Given the description of an element on the screen output the (x, y) to click on. 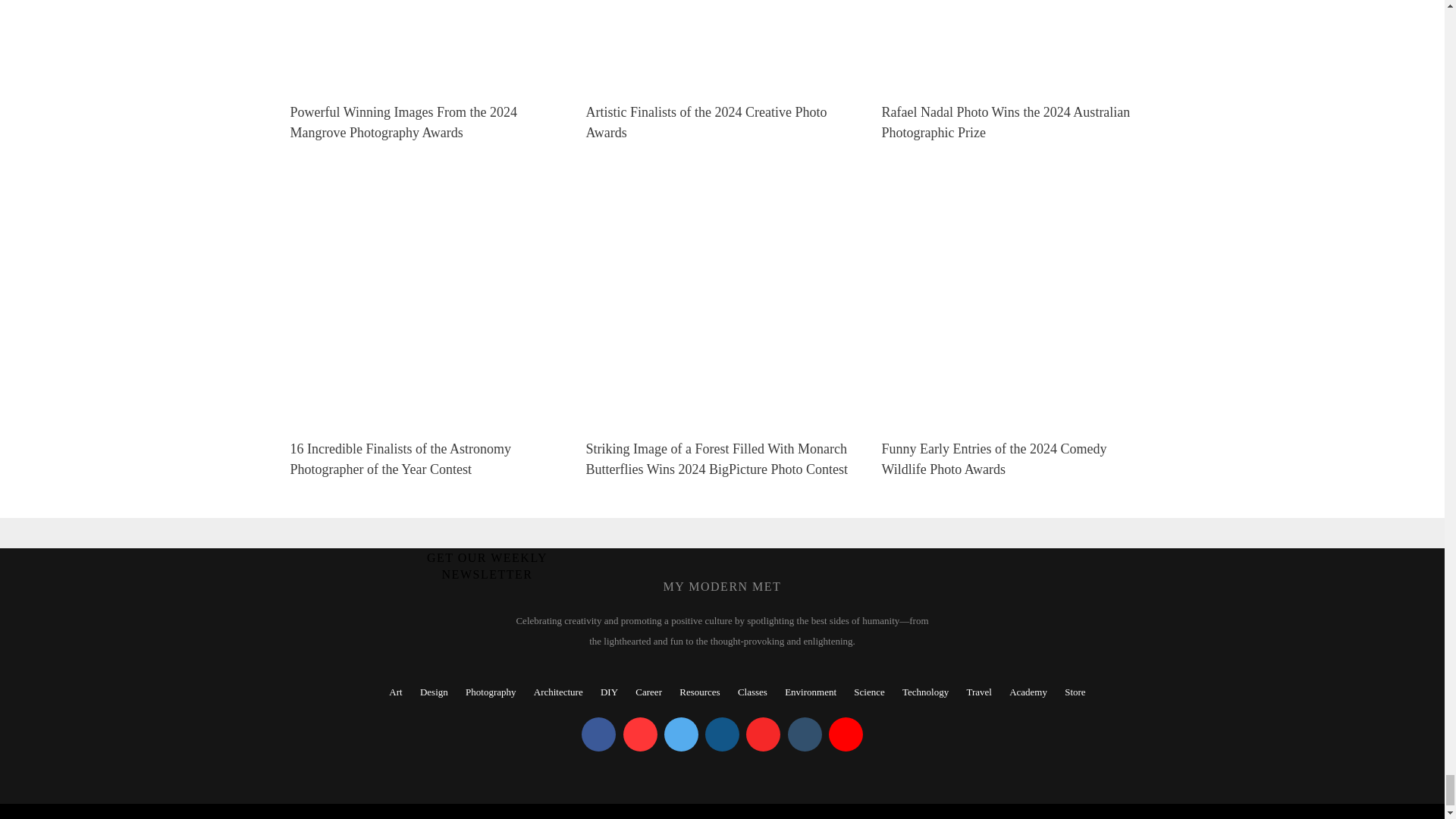
My Modern Met on Tumblr (804, 734)
My Modern Met on Facebook (597, 734)
My Modern Met on Instagram (721, 734)
My Modern Met on YouTube (845, 734)
My Modern Met on Pinterest (640, 734)
My Modern Met on Twitter (680, 734)
